Given the description of an element on the screen output the (x, y) to click on. 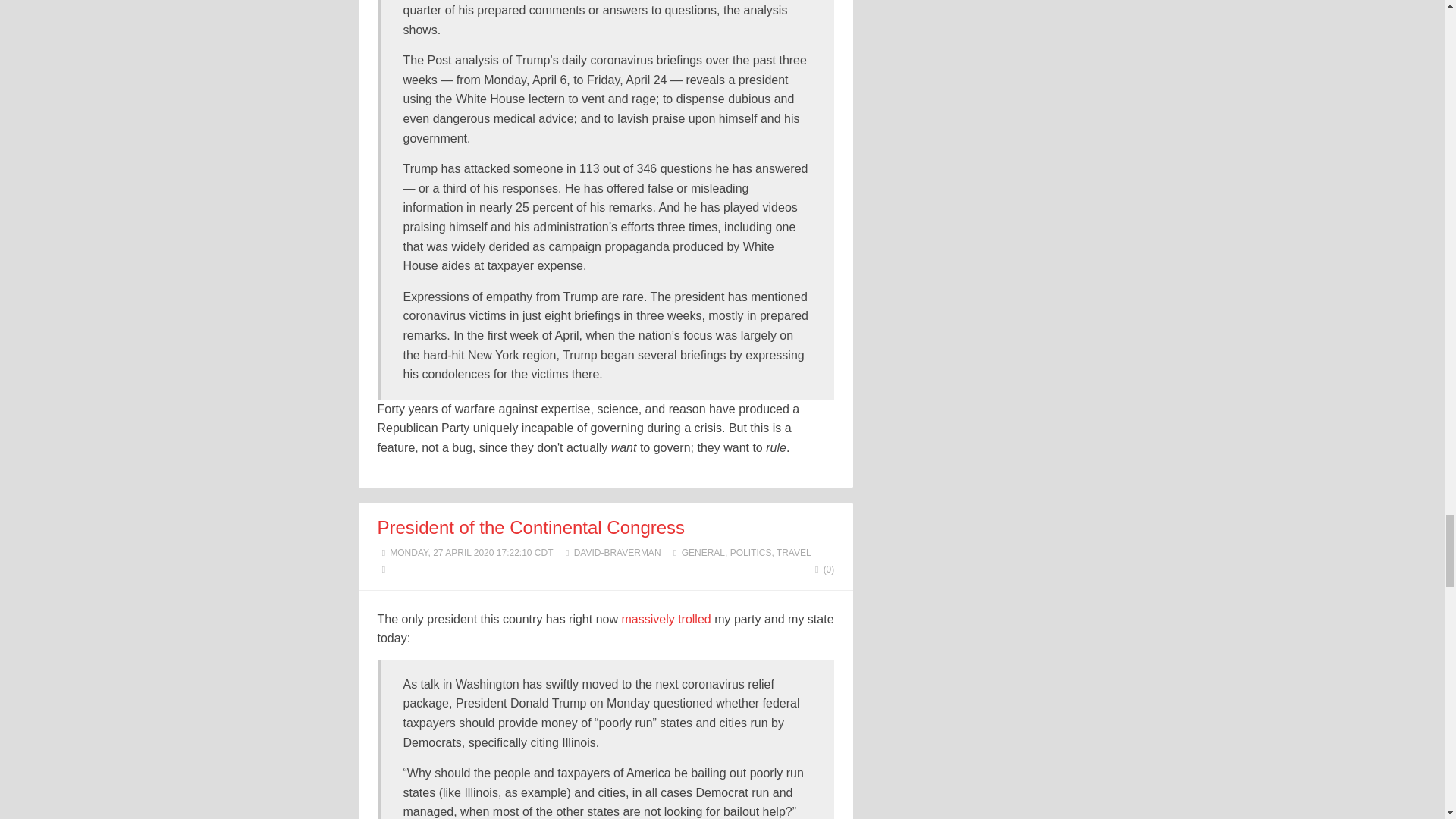
Open a map of the location where this post was written (383, 569)
